Given the description of an element on the screen output the (x, y) to click on. 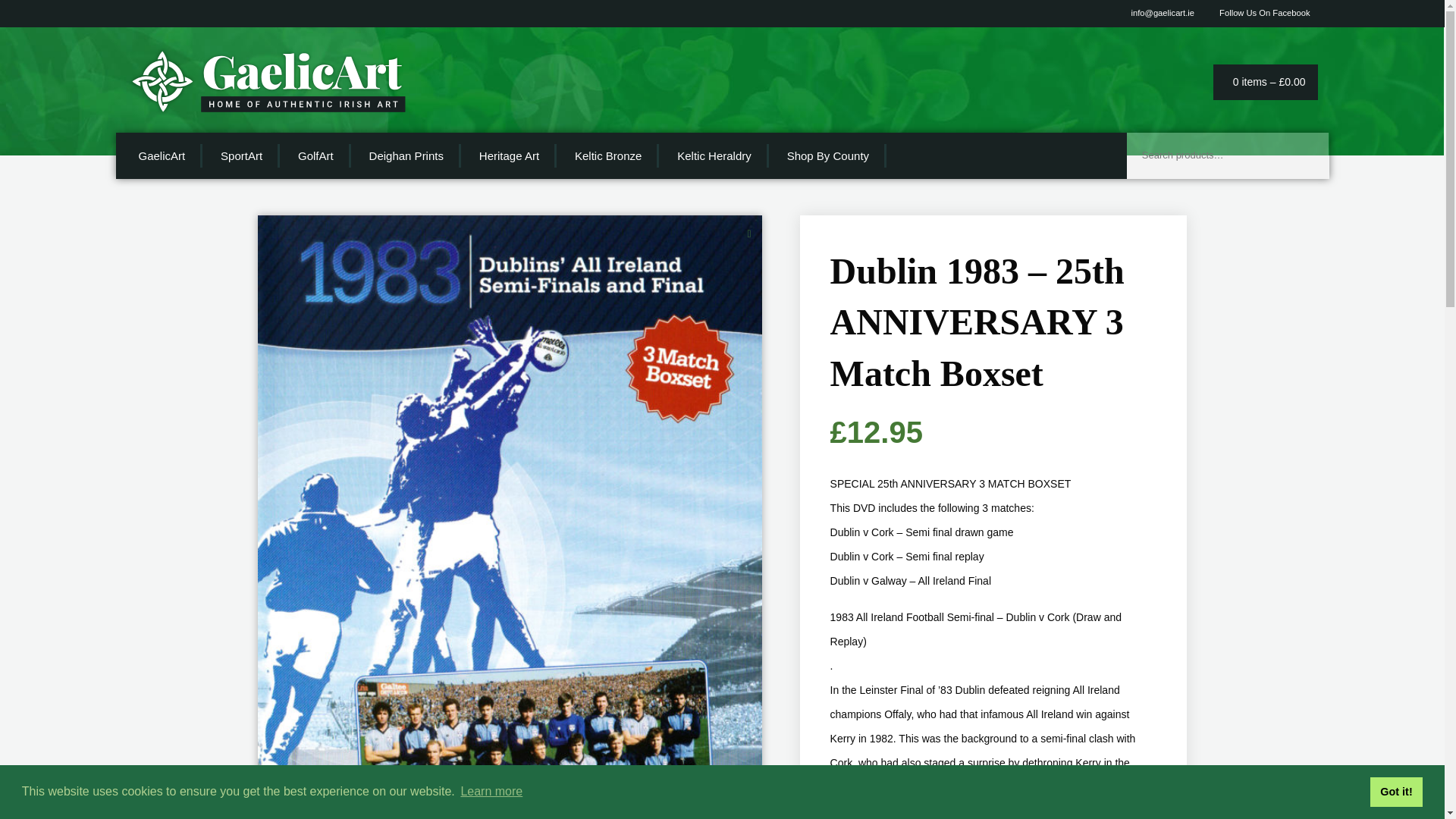
Follow Us On Facebook (1260, 13)
Learn more (491, 791)
Got it! (1396, 791)
SportArt (242, 155)
GaelicArt (162, 155)
